Given the description of an element on the screen output the (x, y) to click on. 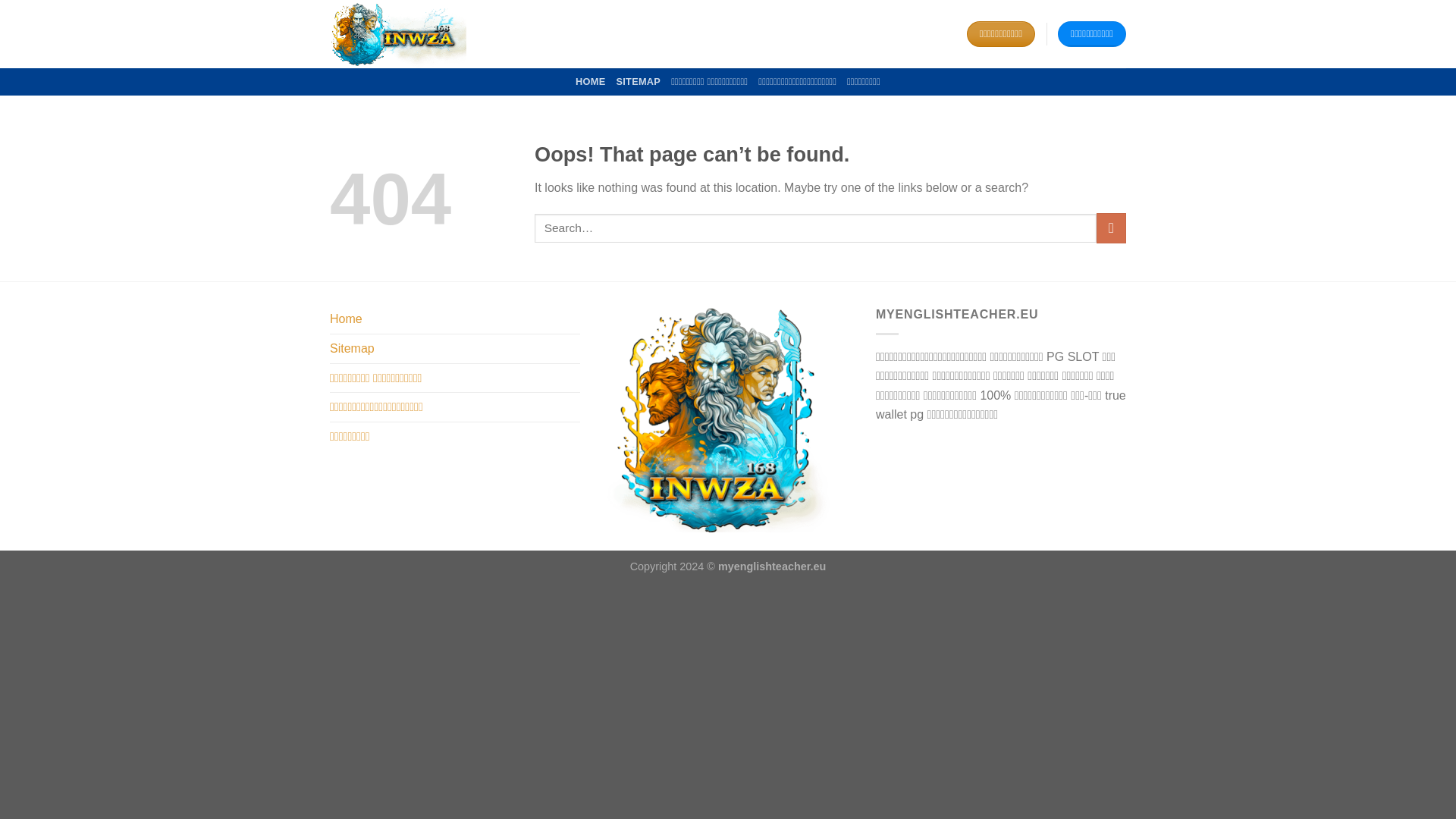
Home (346, 318)
myenglishteacher (405, 33)
SITEMAP (638, 81)
Sitemap (352, 348)
HOME (590, 81)
